Given the description of an element on the screen output the (x, y) to click on. 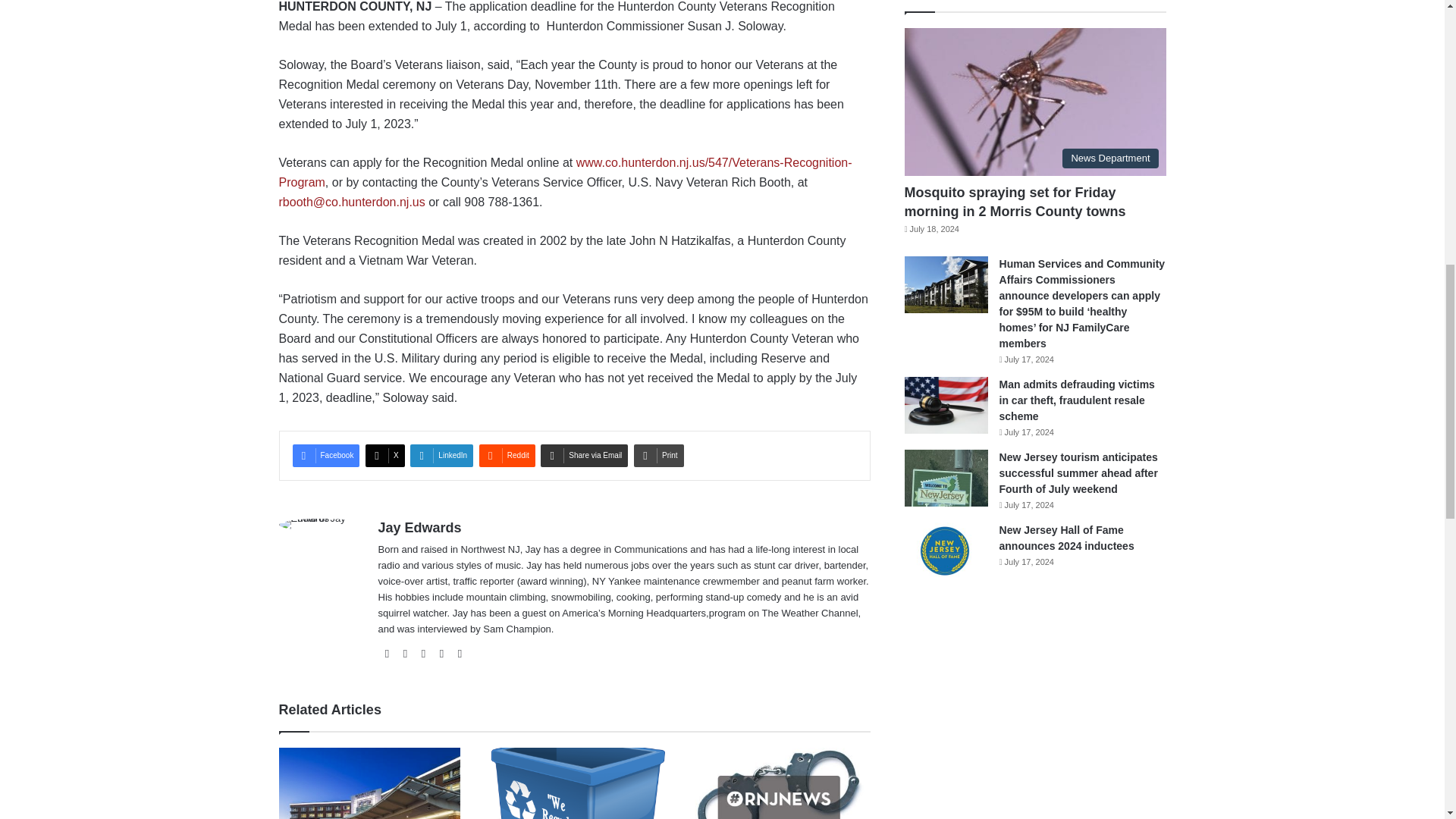
Share via Email (583, 455)
Reddit (507, 455)
Facebook (325, 455)
X (384, 455)
LinkedIn (441, 455)
Print (658, 455)
